Given the description of an element on the screen output the (x, y) to click on. 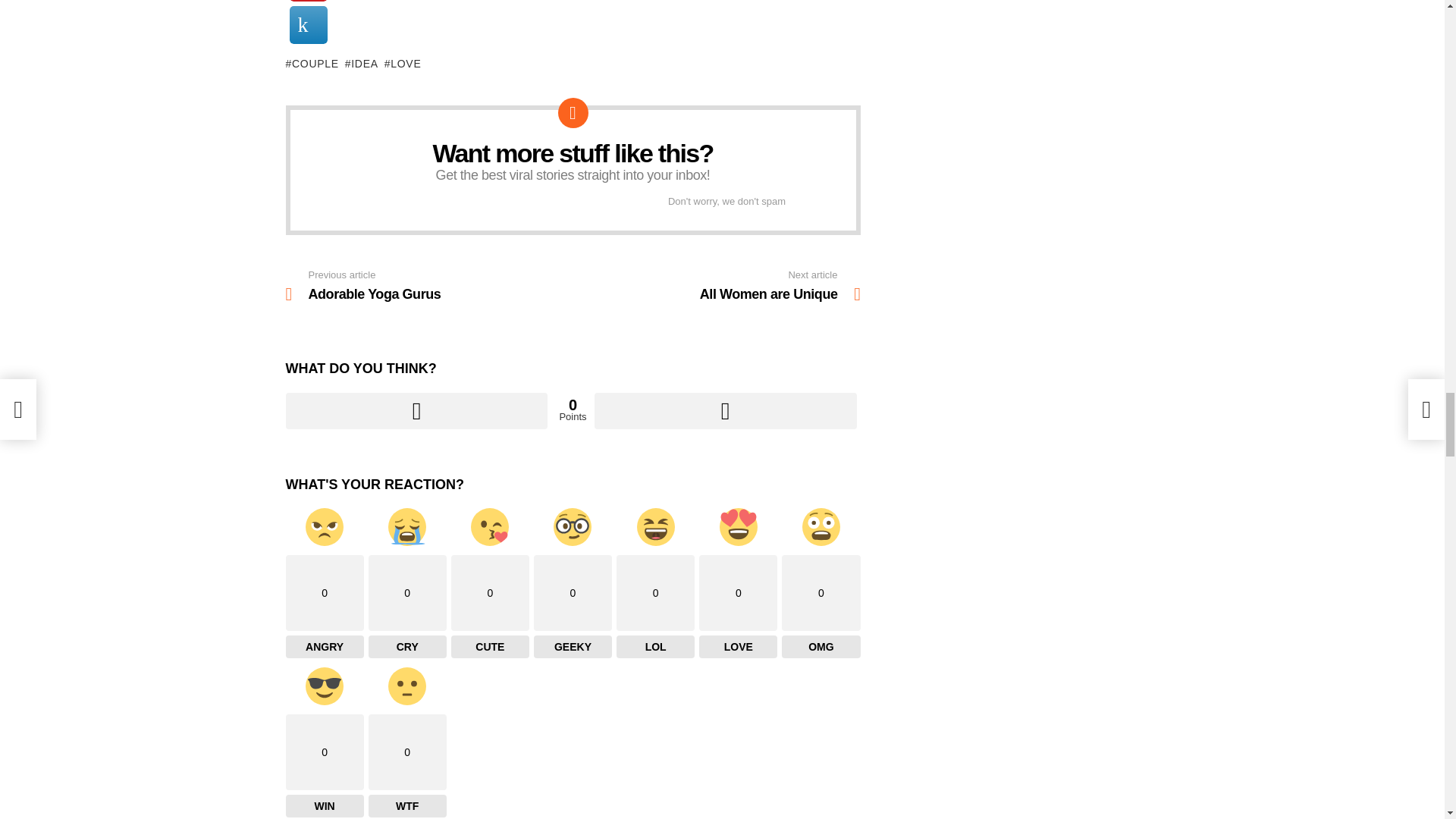
Downvote (725, 411)
Upvote (416, 411)
